Given the description of an element on the screen output the (x, y) to click on. 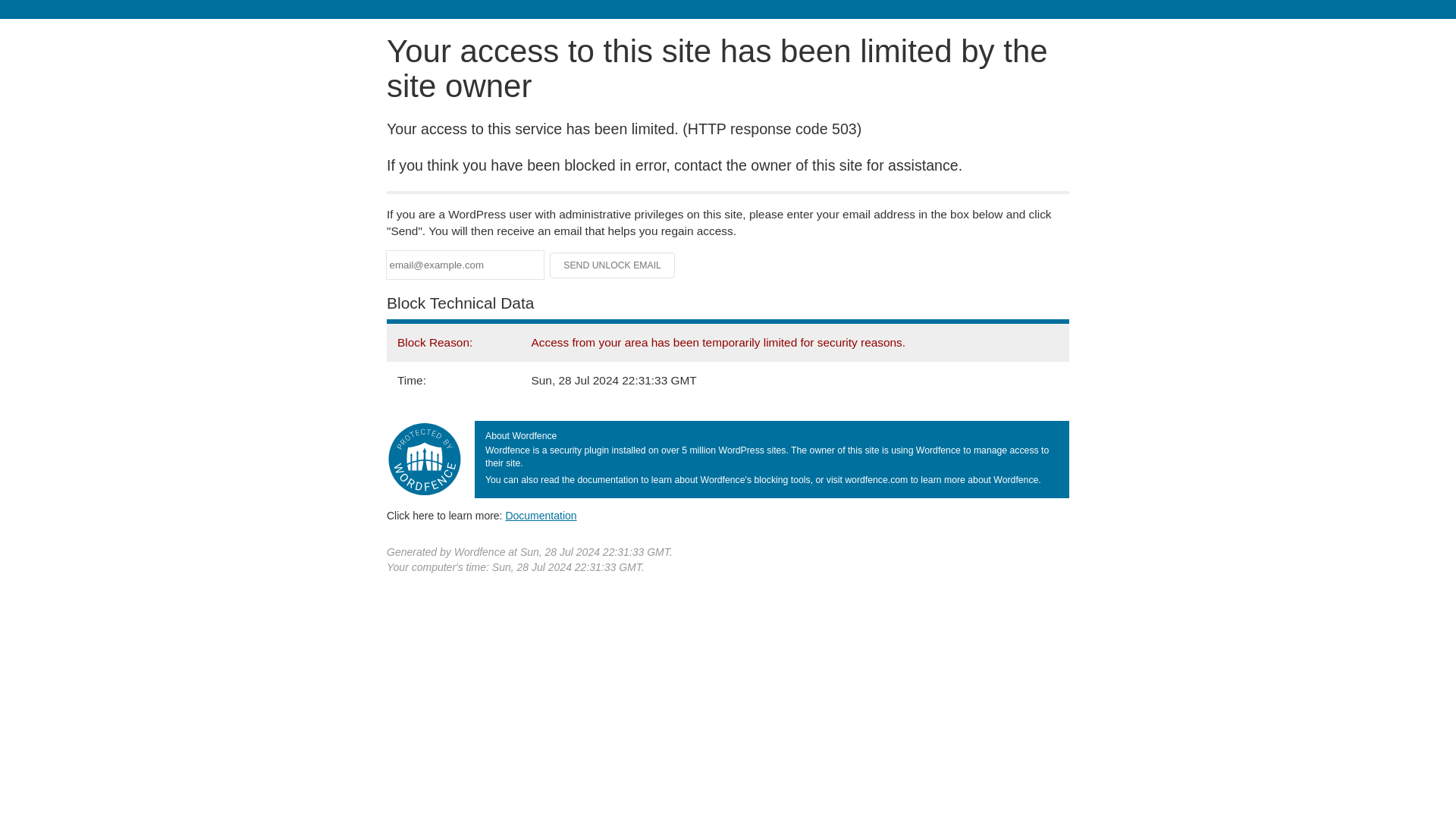
Send Unlock Email (612, 265)
Documentation (540, 515)
Send Unlock Email (612, 265)
